Given the description of an element on the screen output the (x, y) to click on. 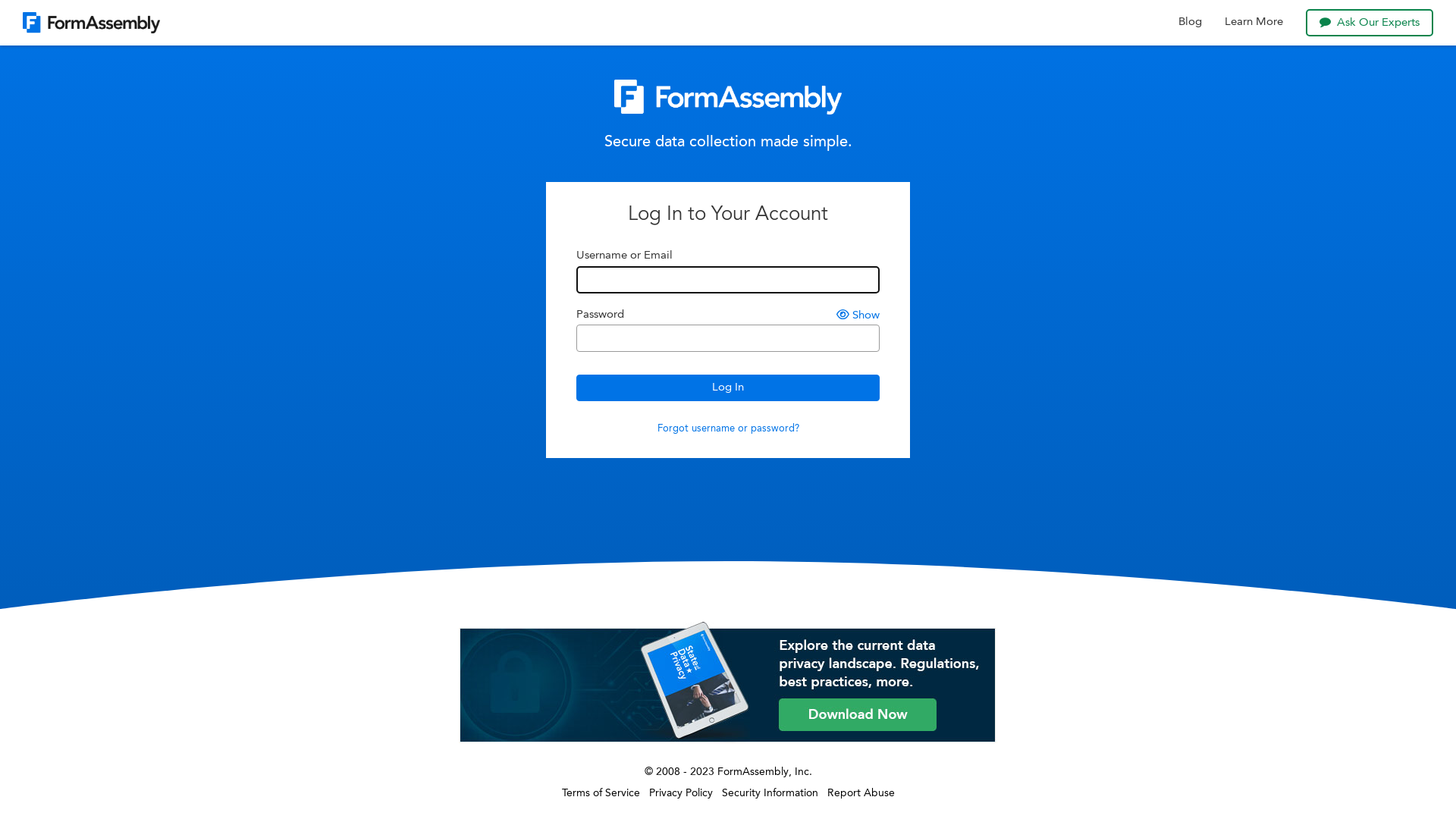
Blog Element type: text (1189, 21)
Report Abuse Element type: text (860, 792)
 Show Element type: text (857, 315)
Privacy Policy Element type: text (680, 792)
Security Information Element type: text (769, 792)
Terms of Service Element type: text (600, 792)
Forgot username or password? Element type: text (727, 429)
FormAssembly, Inc. Element type: text (764, 771)
Ask Our Experts Element type: text (1369, 22)
Learn More Element type: text (1253, 21)
Log In Element type: text (727, 387)
